Given the description of an element on the screen output the (x, y) to click on. 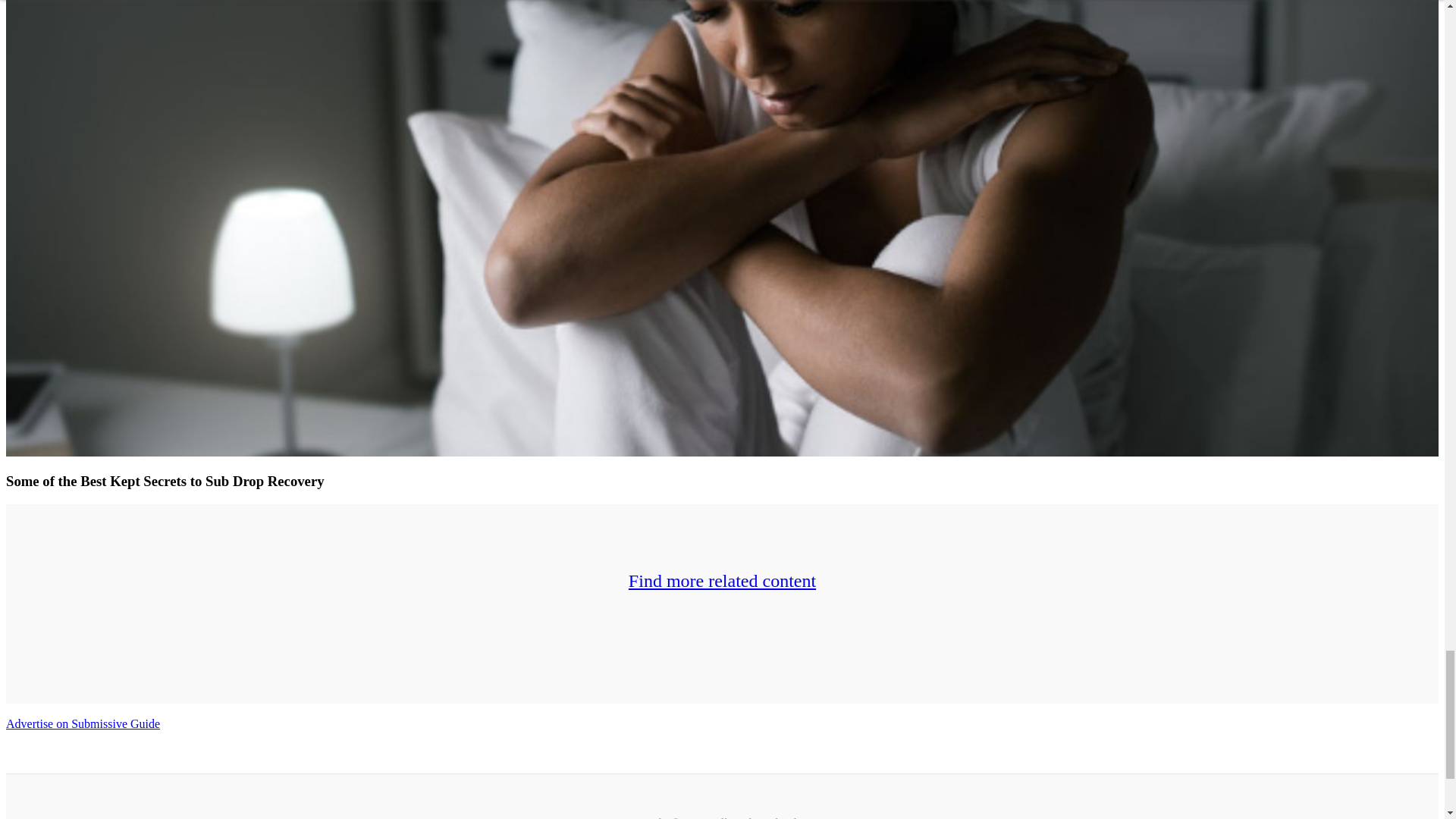
Advertise on Submissive Guide (82, 723)
Some of the Best Kept Secrets to Sub Drop Recovery (164, 480)
